Given the description of an element on the screen output the (x, y) to click on. 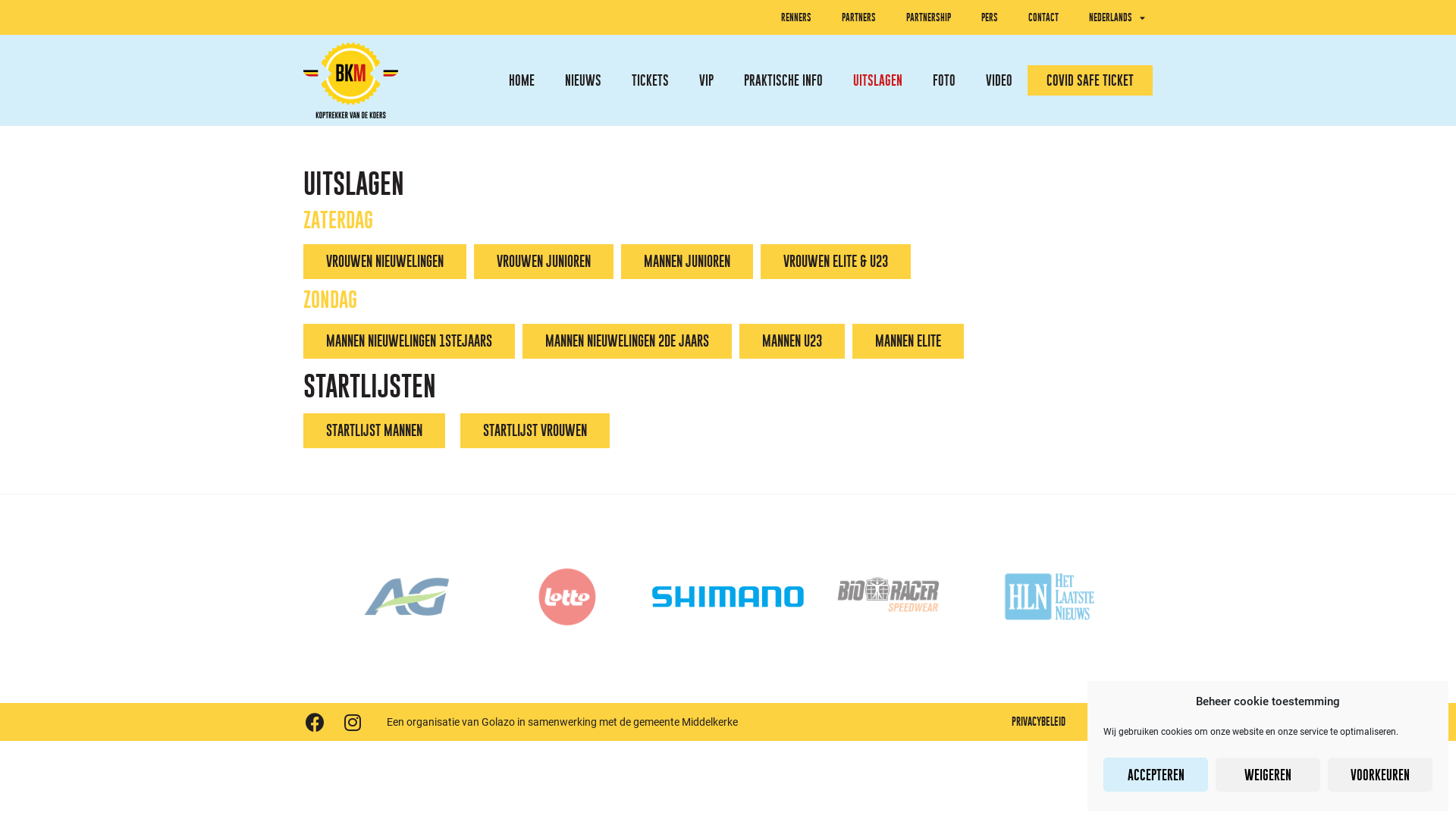
VROUWEN ELITE & U23 Element type: text (835, 261)
CONTACT Element type: text (1043, 17)
STARTLIJST VROUWEN Element type: text (534, 430)
VIP Element type: text (706, 80)
TICKETS Element type: text (650, 80)
MANNEN NIEUWELINGEN 1STEJAARS Element type: text (408, 340)
MANNEN U23 Element type: text (791, 340)
VIDEO Element type: text (998, 80)
PARTNERS Element type: text (858, 17)
PRIVACYBELEID Element type: text (1038, 721)
MANNEN NIEUWELINGEN 2DE JAARS Element type: text (626, 340)
MANNEN JUNIOREN Element type: text (687, 261)
VROUWEN NIEUWELINGEN Element type: text (384, 261)
VROUWEN JUNIOREN Element type: text (543, 261)
PRAKTISCHE INFO Element type: text (782, 80)
COOKIEBELEID Element type: text (1120, 721)
FOTO Element type: text (943, 80)
PERS Element type: text (989, 17)
ACCEPTEREN Element type: text (1155, 774)
VOORKEUREN Element type: text (1379, 774)
PARTNERSHIP Element type: text (928, 17)
NIEUWS Element type: text (582, 80)
NEDERLANDS Element type: text (1116, 17)
UITSLAGEN Element type: text (877, 80)
RENNERS Element type: text (795, 17)
COVID SAFE TICKET Element type: text (1089, 79)
bkm-logo Element type: hover (350, 80)
STARTLIJST MANNEN Element type: text (374, 430)
WEIGEREN Element type: text (1267, 774)
MANNEN ELITE Element type: text (907, 340)
HOME Element type: text (521, 80)
